Given the description of an element on the screen output the (x, y) to click on. 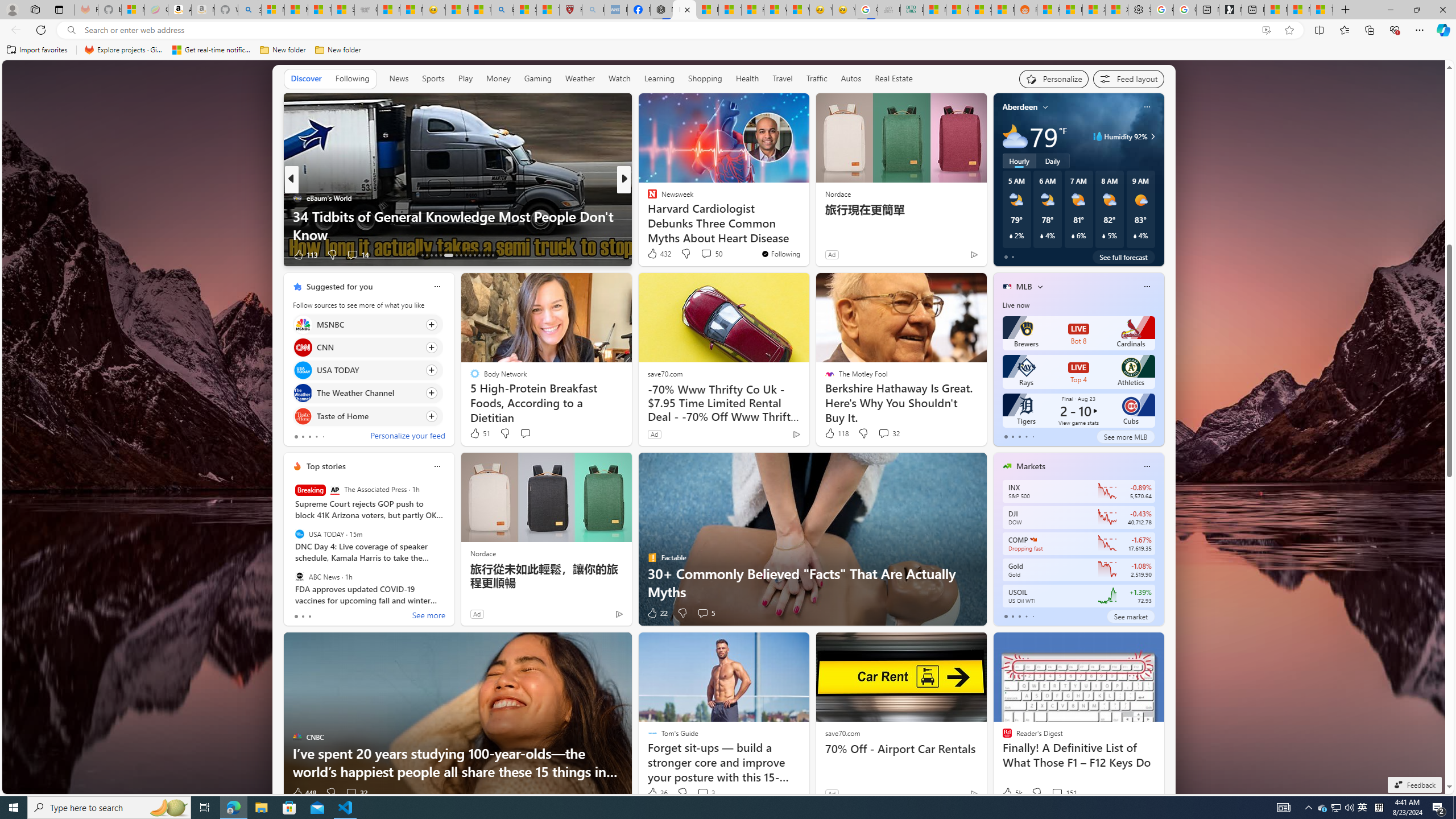
View comments 7 Comment (702, 254)
eBaum's World (296, 197)
View comments 30 Comment (6, 254)
Robert H. Shmerling, MD - Harvard Health (570, 9)
Start the conversation (525, 432)
Million Dollar Sense (647, 215)
AutomationID: tab-77 (478, 255)
Watch (619, 78)
View comments 104 Comment (703, 254)
